Given the description of an element on the screen output the (x, y) to click on. 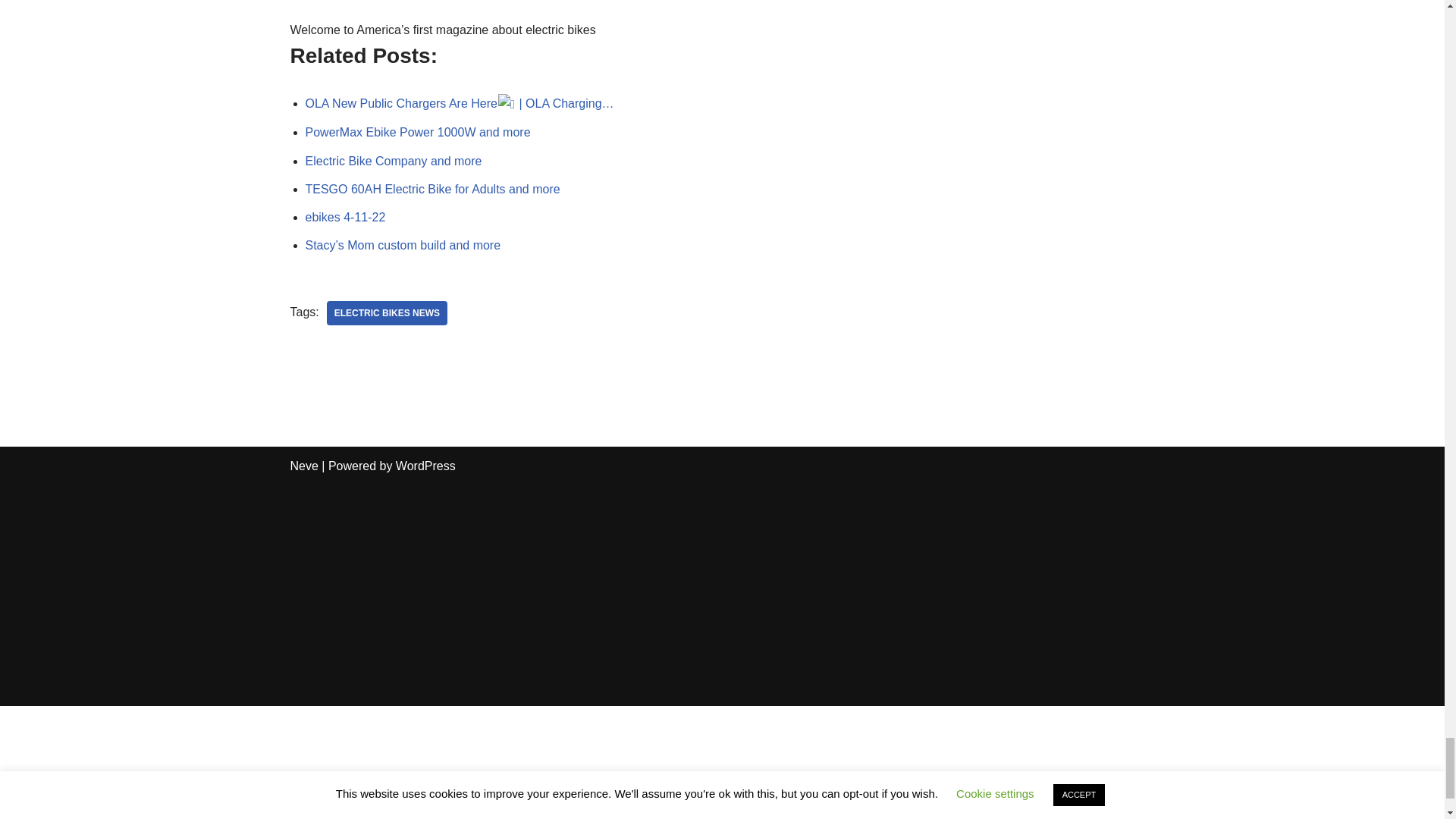
TESGO 60AH Electric Bike for Adults and more (431, 188)
ELECTRIC BIKES NEWS (386, 313)
Electric Bike Company and more (392, 160)
ebikes 4-11-22 (344, 216)
PowerMax Ebike Power 1000W and more (416, 132)
